Given the description of an element on the screen output the (x, y) to click on. 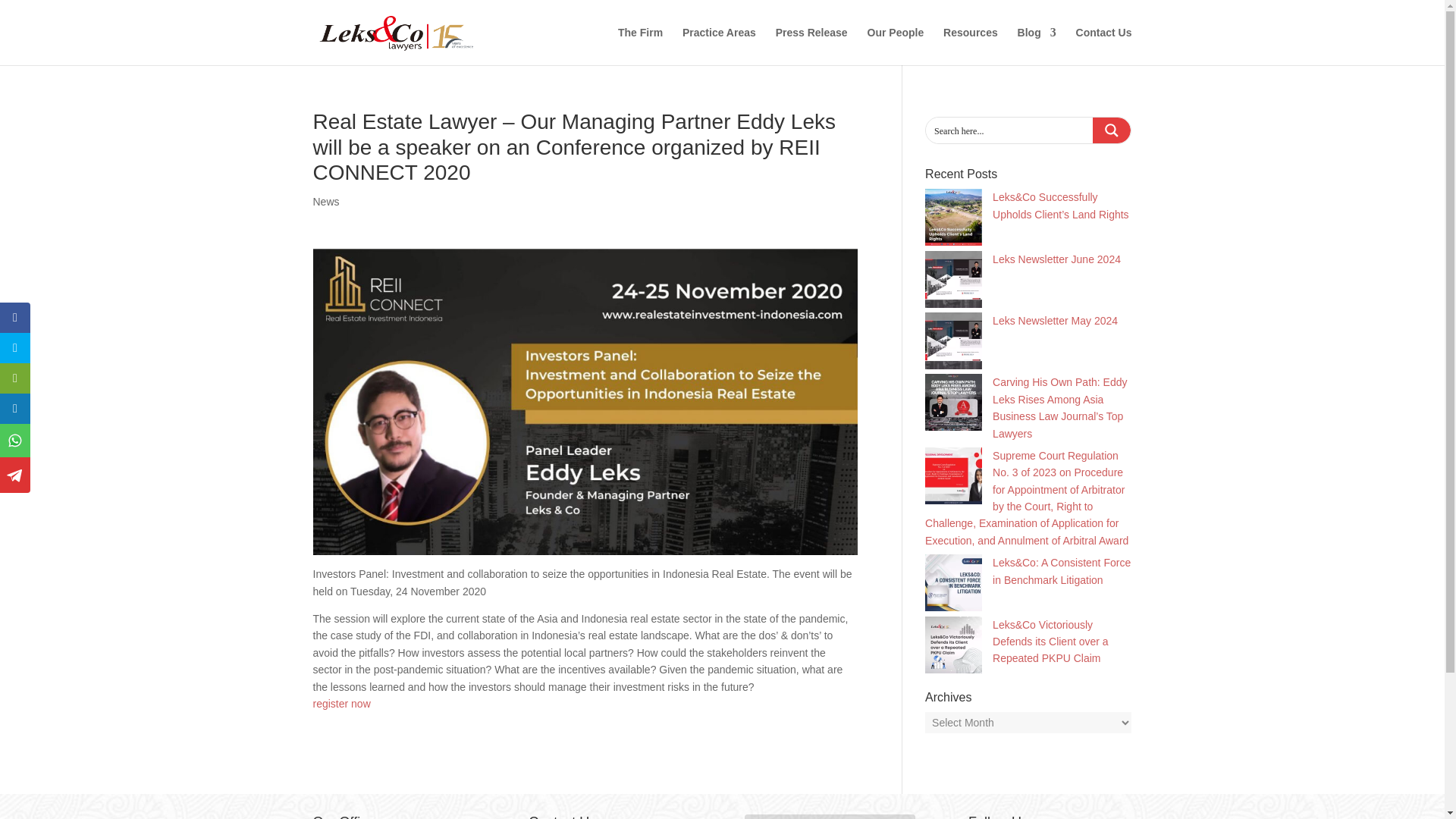
Blog (1037, 46)
The Firm (639, 46)
Contact Us (1103, 46)
Our People (895, 46)
Resources (970, 46)
Press Release (811, 46)
News (326, 201)
register now (341, 703)
Leks Newsletter June 2024 (1056, 259)
Practice Areas (718, 46)
Leks Newsletter May 2024 (1055, 320)
